Given the description of an element on the screen output the (x, y) to click on. 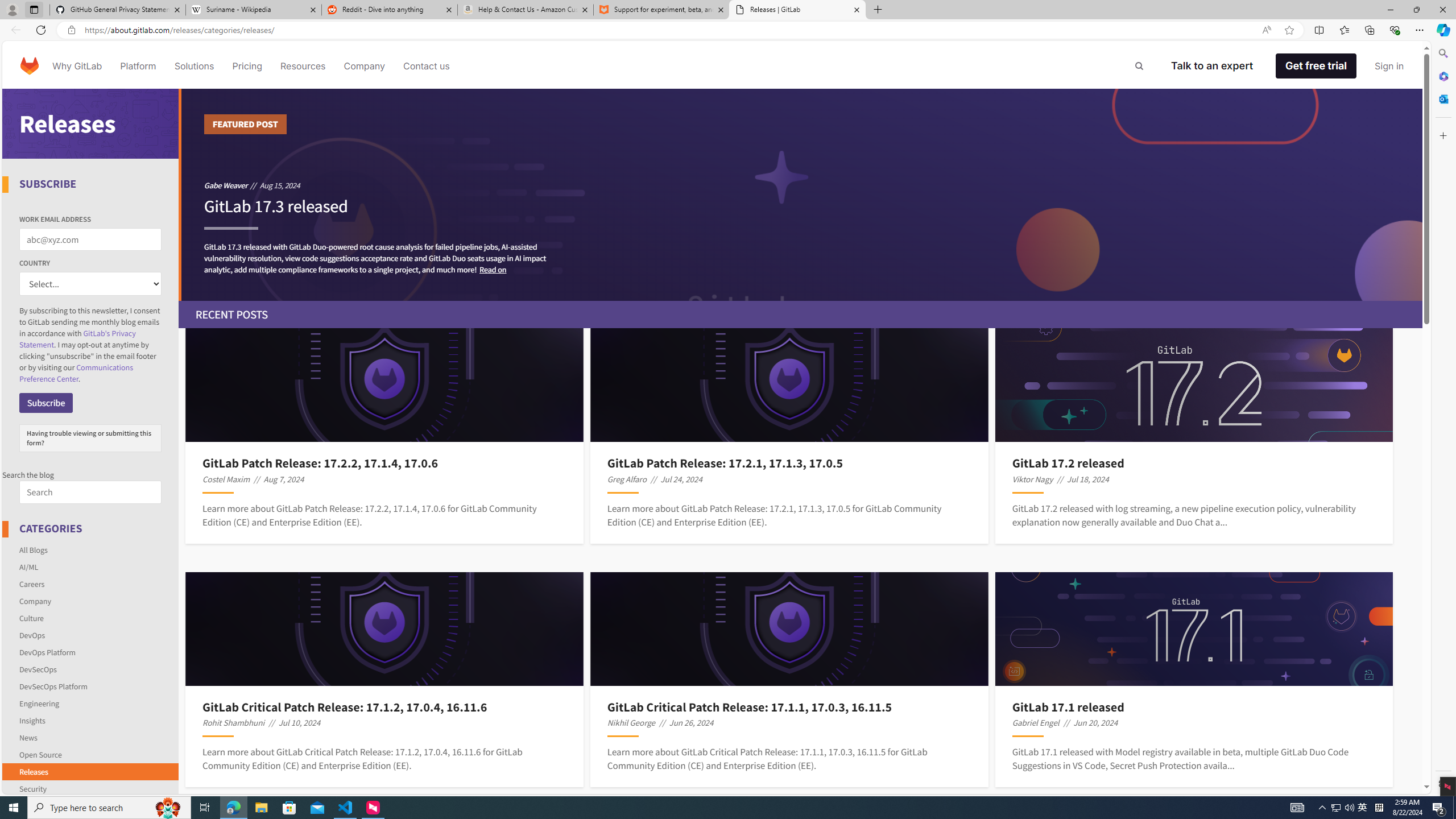
Nikhil George (631, 722)
Gabriel Engel (1035, 722)
All Blogs (90, 549)
Why GitLab (77, 65)
DevSecOps Platform (90, 686)
Contact us (426, 65)
GitLab 17.1 released (1193, 706)
Company (35, 600)
Read on (492, 269)
Resources (302, 65)
